Given the description of an element on the screen output the (x, y) to click on. 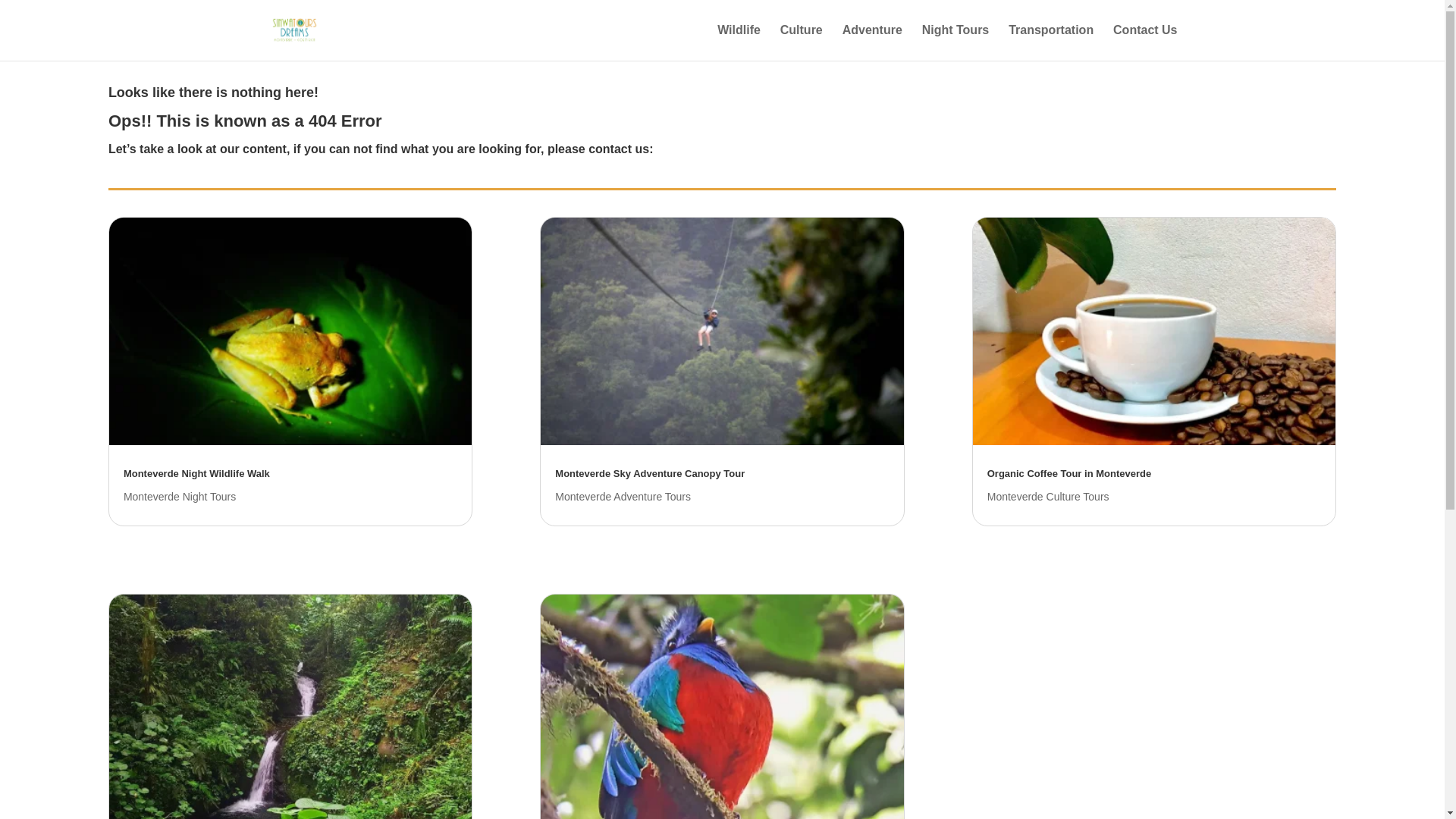
Culture (801, 42)
Transportation (1051, 42)
Monteverde Night Wildlife Walk (196, 473)
Adventure (872, 42)
Monteverde Adventure Tours (622, 496)
Contact Us (1144, 42)
Organic Coffee Tour in Monteverde (1069, 473)
Wildlife (738, 42)
Monteverde Culture Tours (1048, 496)
Night Tours (955, 42)
